Given the description of an element on the screen output the (x, y) to click on. 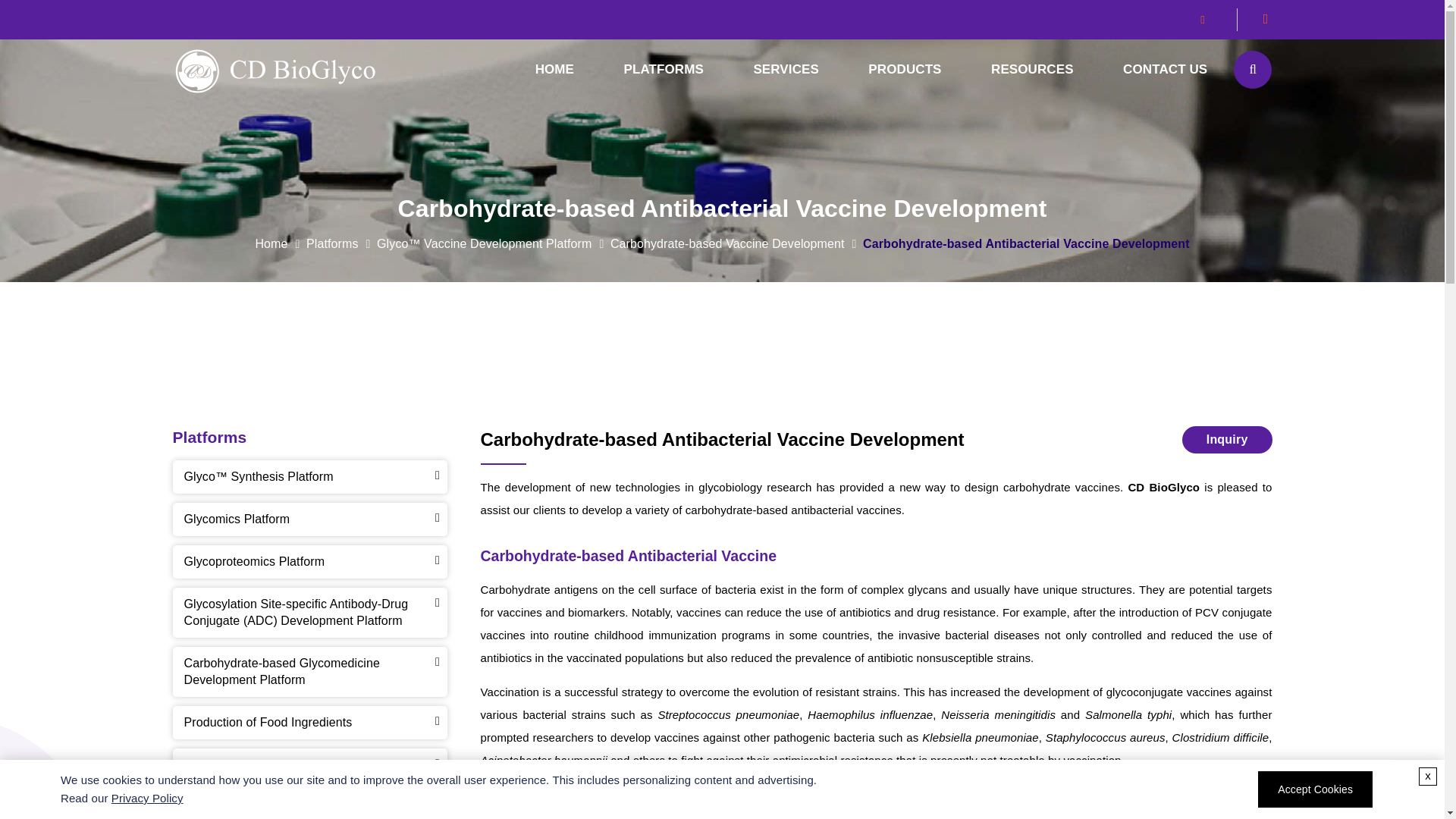
child (662, 70)
child (1032, 70)
child (786, 70)
PLATFORMS (662, 70)
HOME (554, 70)
